Given the description of an element on the screen output the (x, y) to click on. 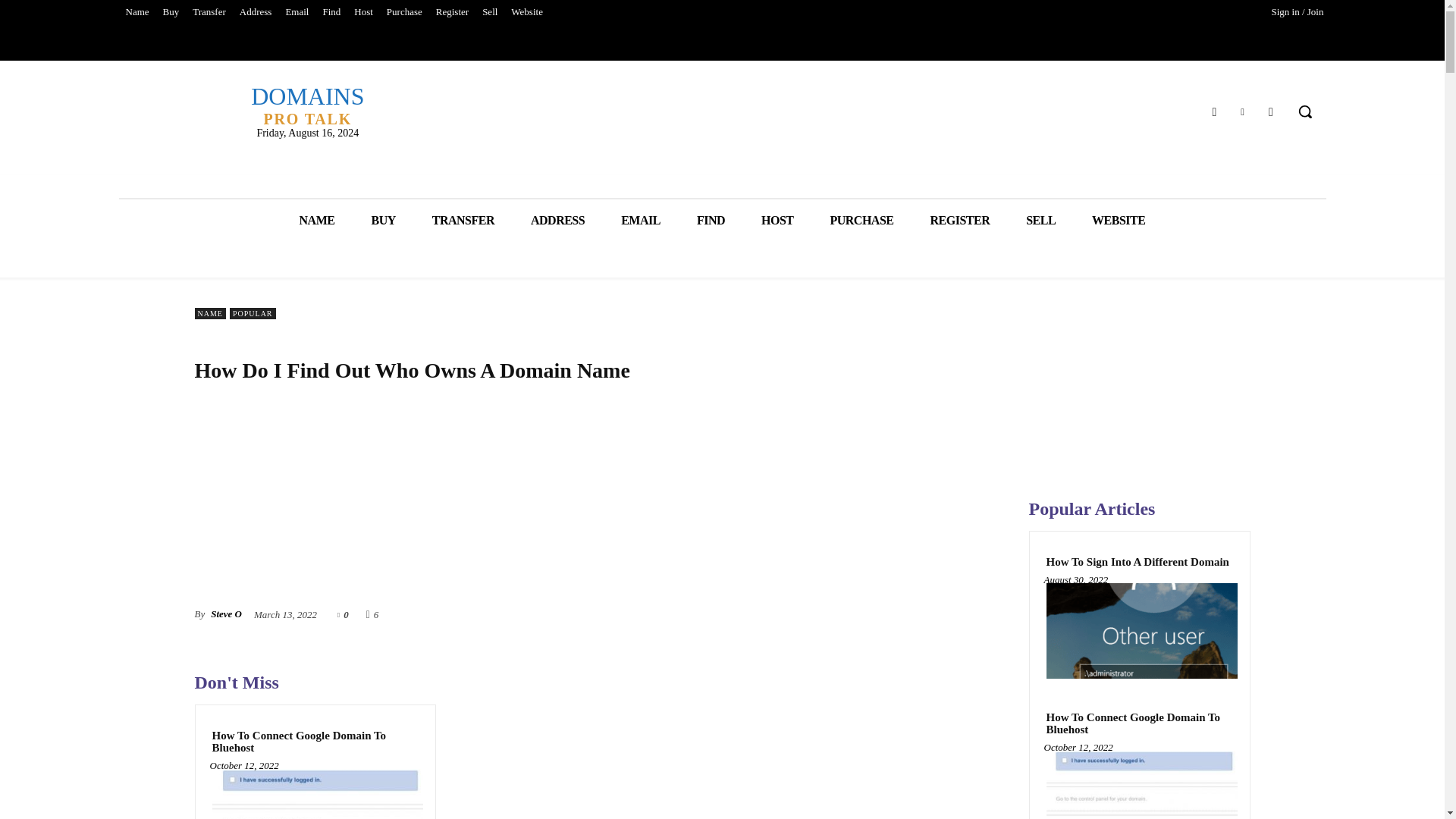
Sell (489, 12)
Youtube (1270, 111)
How To Connect Google Domain To Bluehost (314, 794)
Host (363, 12)
Transfer (209, 12)
Name (136, 12)
How To Connect Google Domain To Bluehost (314, 741)
Website (526, 12)
Register (452, 12)
Find (331, 12)
